Given the description of an element on the screen output the (x, y) to click on. 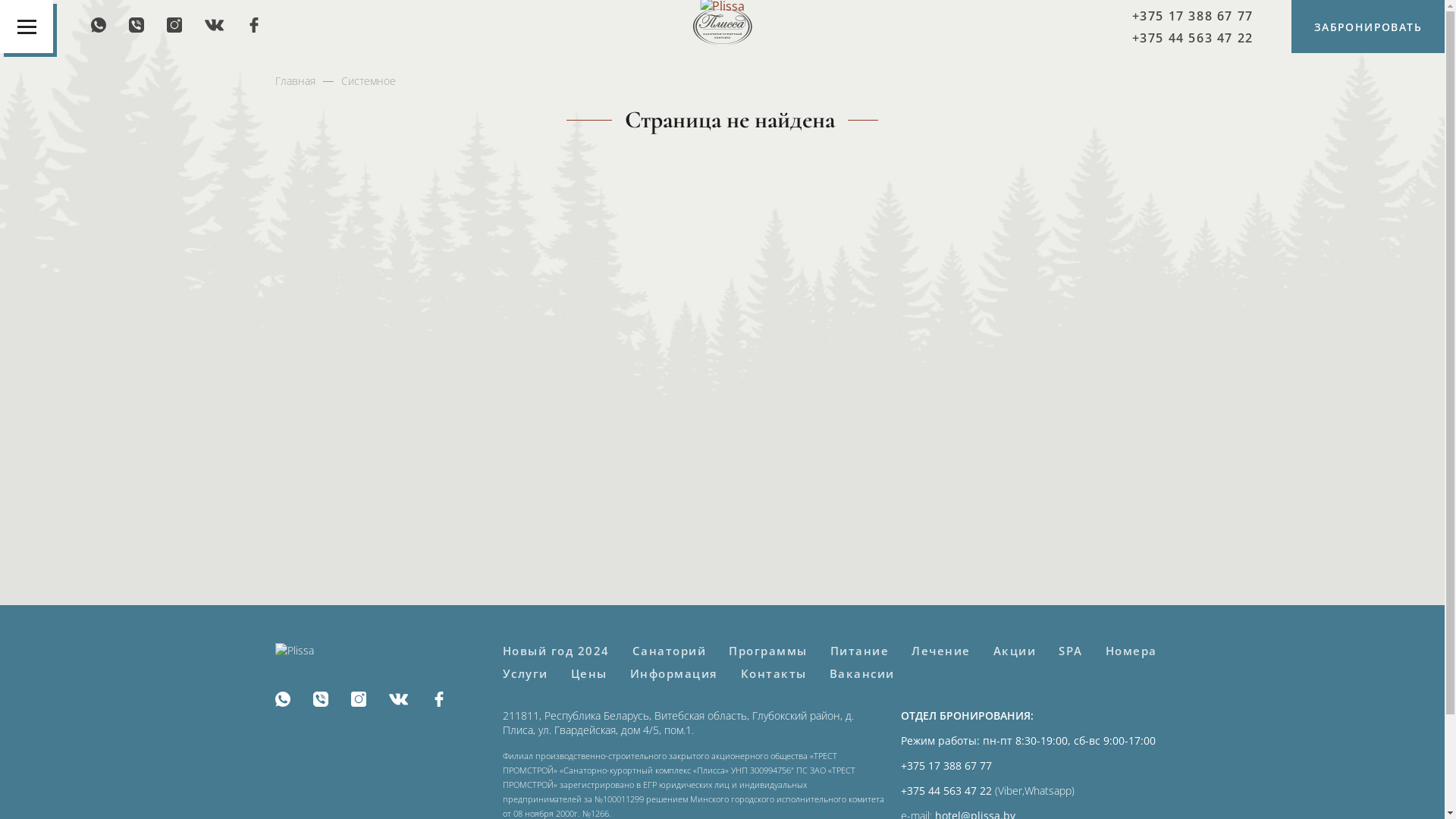
+375 44 563 47 22 Element type: text (1192, 36)
SPA Element type: text (1070, 650)
+375 17 388 67 77 Element type: text (1192, 15)
